Given the description of an element on the screen output the (x, y) to click on. 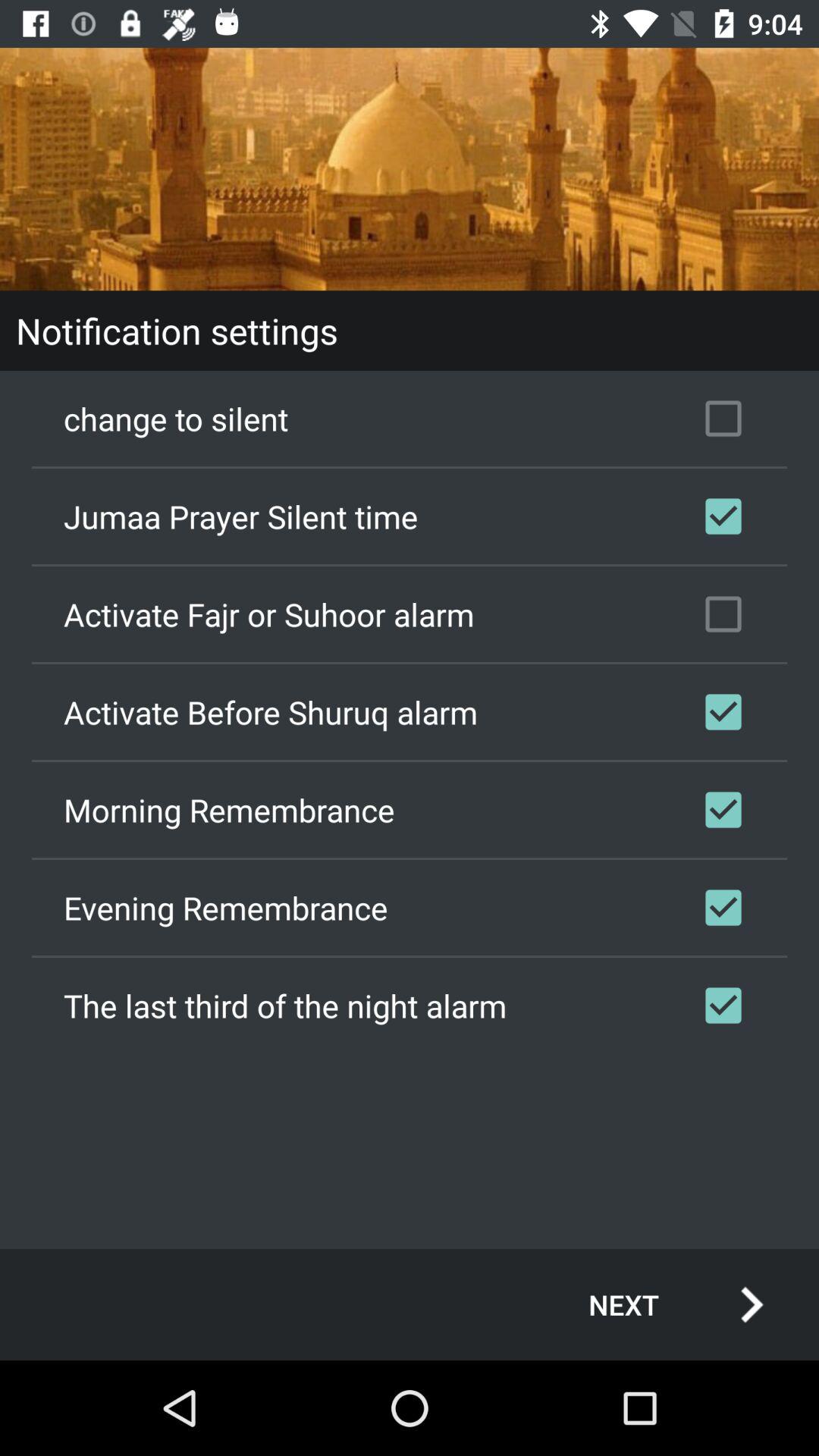
turn on next item (659, 1304)
